Given the description of an element on the screen output the (x, y) to click on. 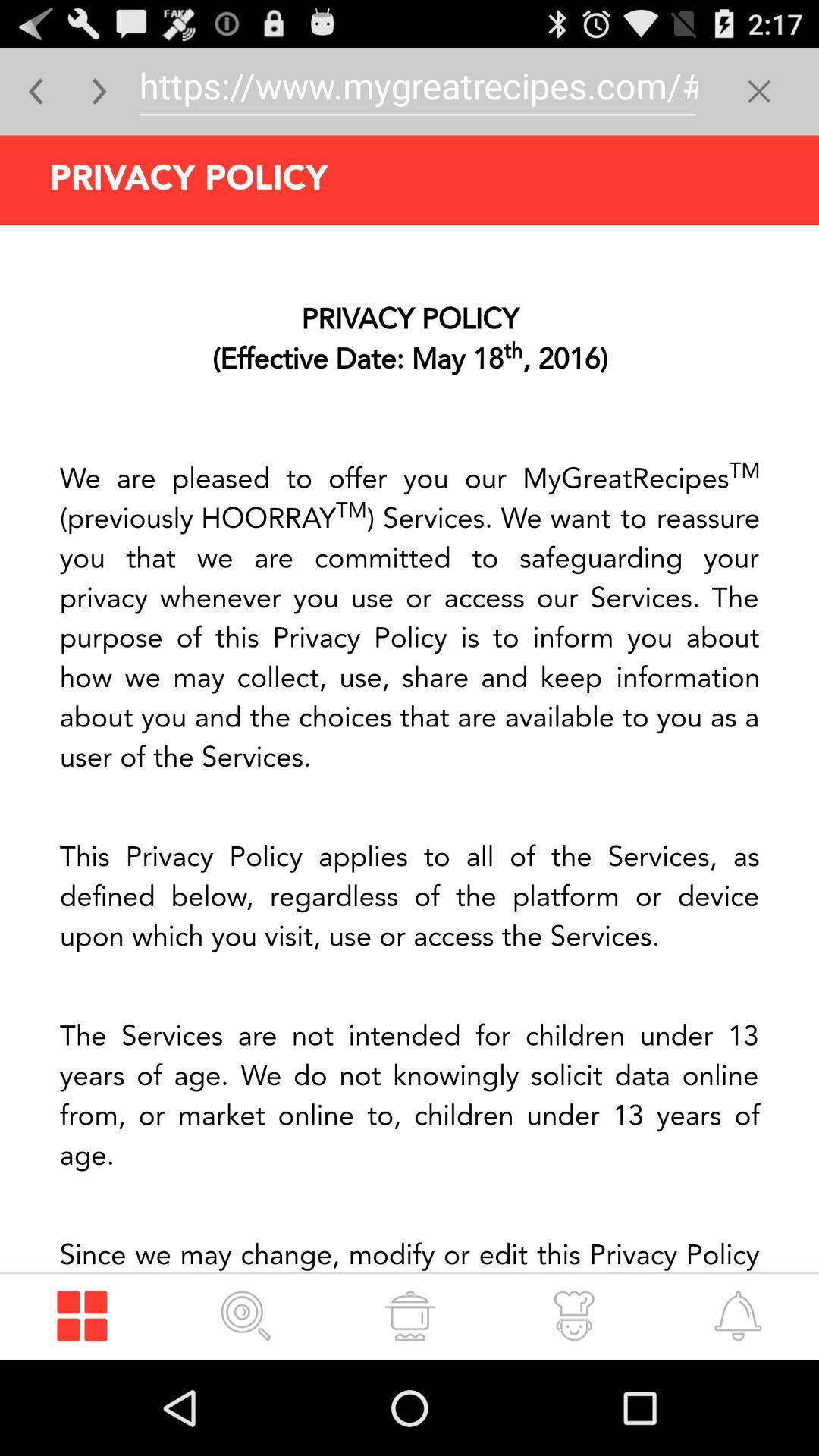
scroll down to read privacy policy (409, 747)
